Given the description of an element on the screen output the (x, y) to click on. 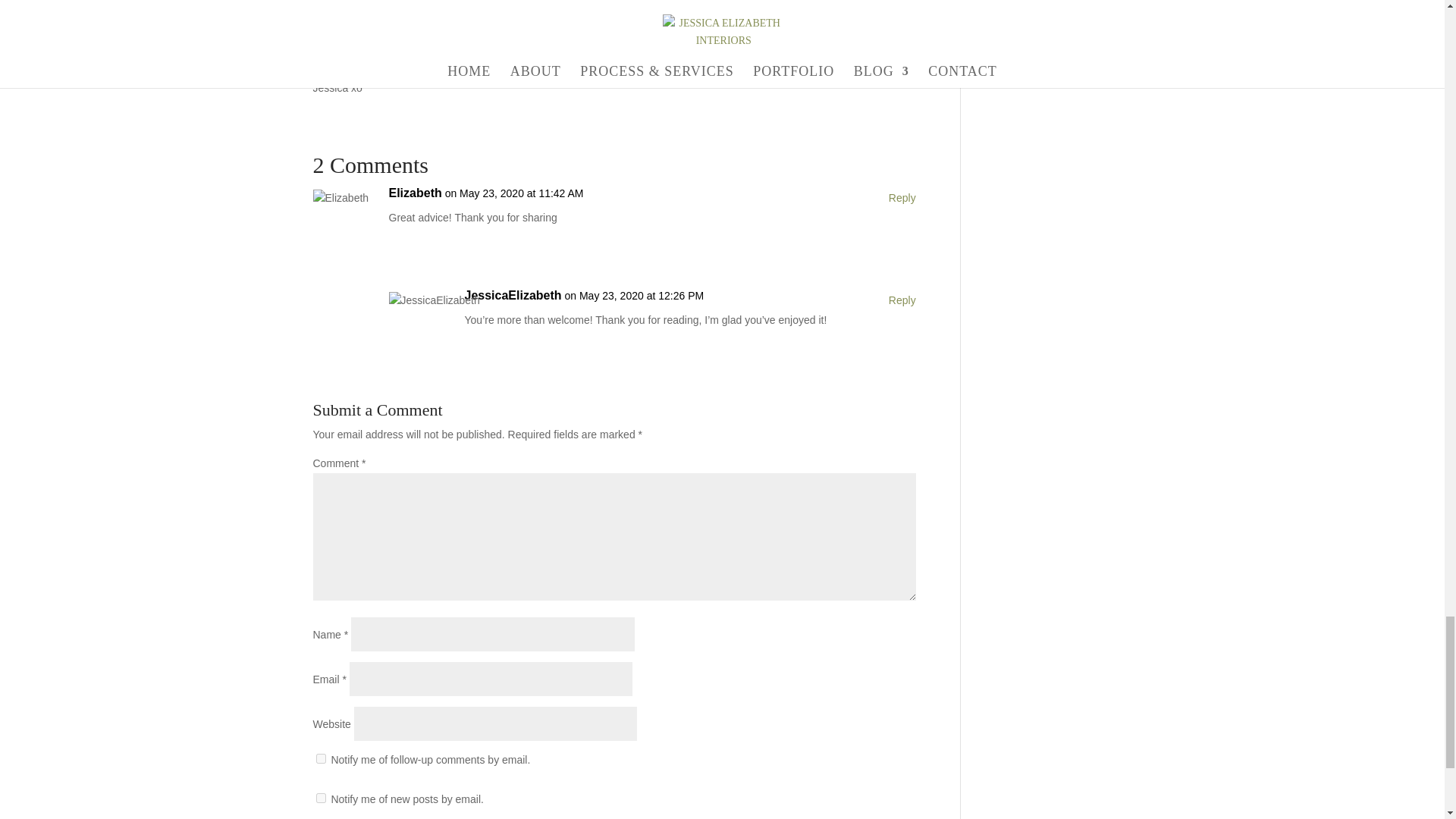
subscribe (319, 798)
Reply (901, 300)
Reply (901, 198)
subscribe (319, 758)
